Given the description of an element on the screen output the (x, y) to click on. 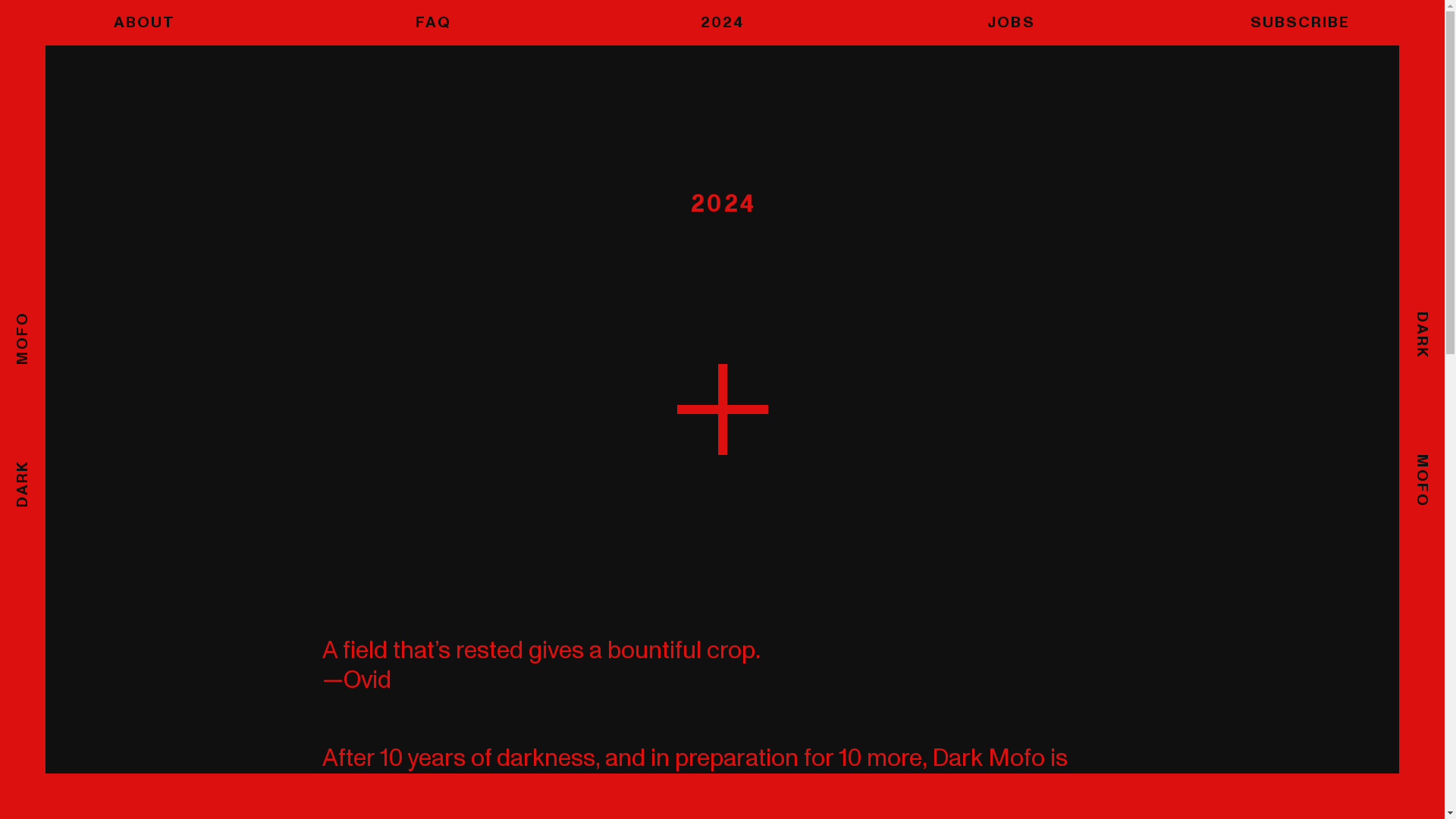
SUBSCRIBE Element type: text (1299, 22)
ABOUT Element type: text (143, 22)
JOBS Element type: text (1010, 22)
2024 Element type: text (721, 22)
FAQ Element type: text (432, 22)
